Given the description of an element on the screen output the (x, y) to click on. 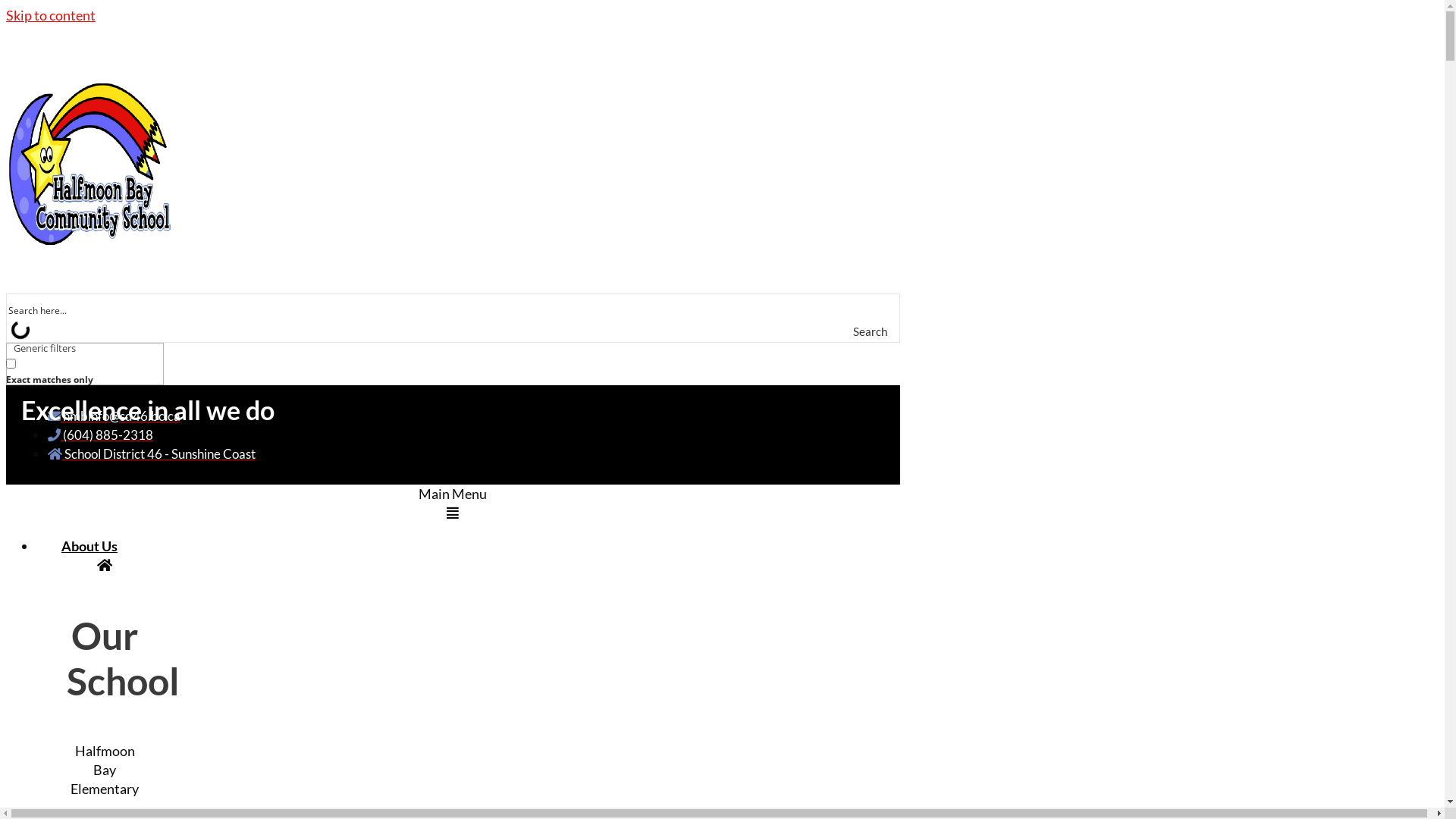
Our School
Halfmoon Bay Elementary Element type: text (104, 677)
About Us Element type: text (89, 545)
(604) 885-2318 Element type: text (100, 434)
Skip to content Element type: text (50, 14)
hmbinfo@sd46.bc.ca Element type: text (113, 415)
Search Element type: text (883, 331)
School District 46 - Sunshine Coast Element type: text (151, 453)
